Given the description of an element on the screen output the (x, y) to click on. 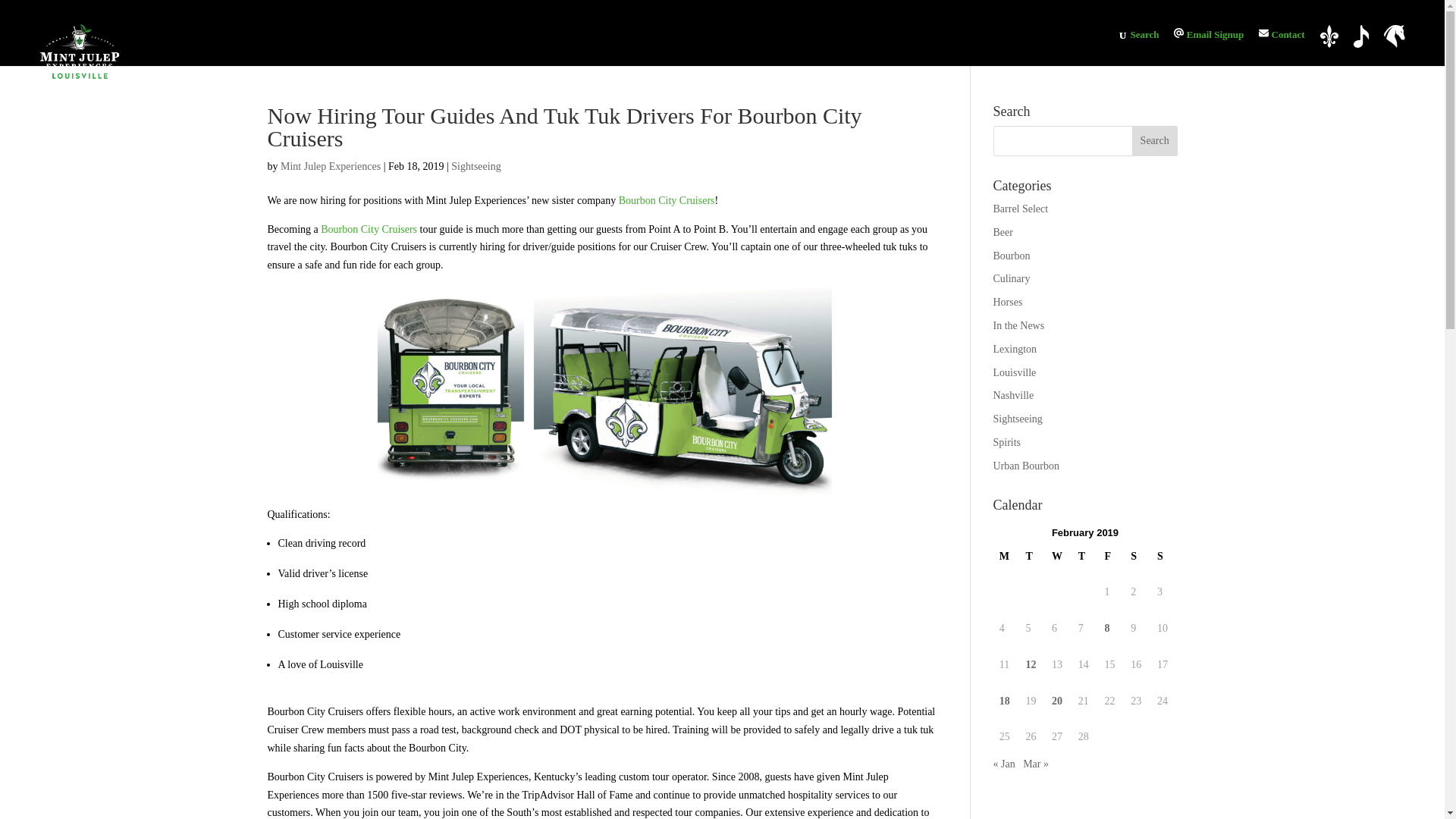
Contact (1281, 34)
Search (1143, 34)
Email Signup (1208, 34)
Search (1154, 141)
Lexington (1394, 36)
Posts by Mint Julep Experiences (330, 165)
